Given the description of an element on the screen output the (x, y) to click on. 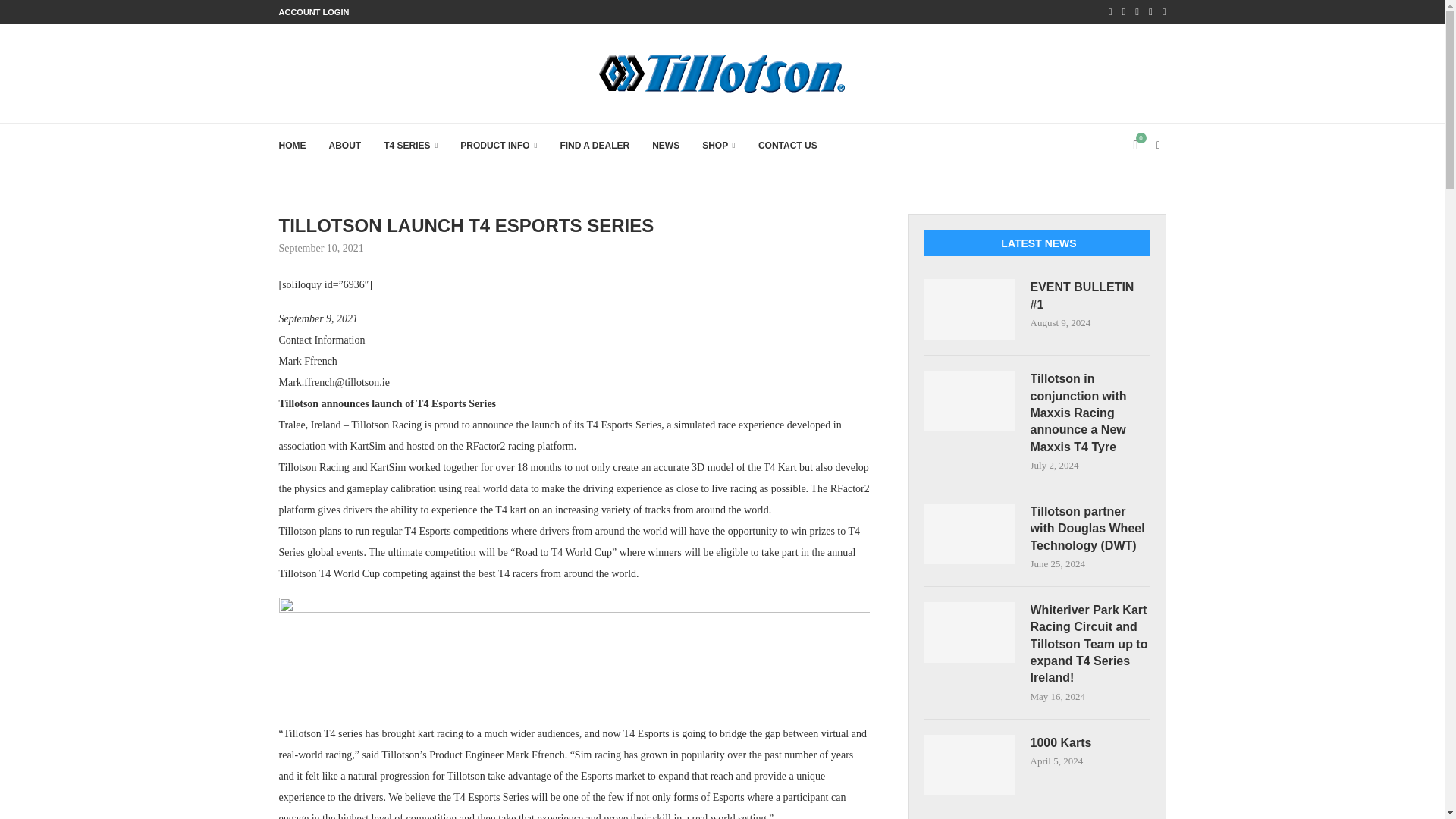
T4 SERIES (411, 145)
ACCOUNT LOGIN (314, 12)
PRODUCT INFO (498, 145)
